Given the description of an element on the screen output the (x, y) to click on. 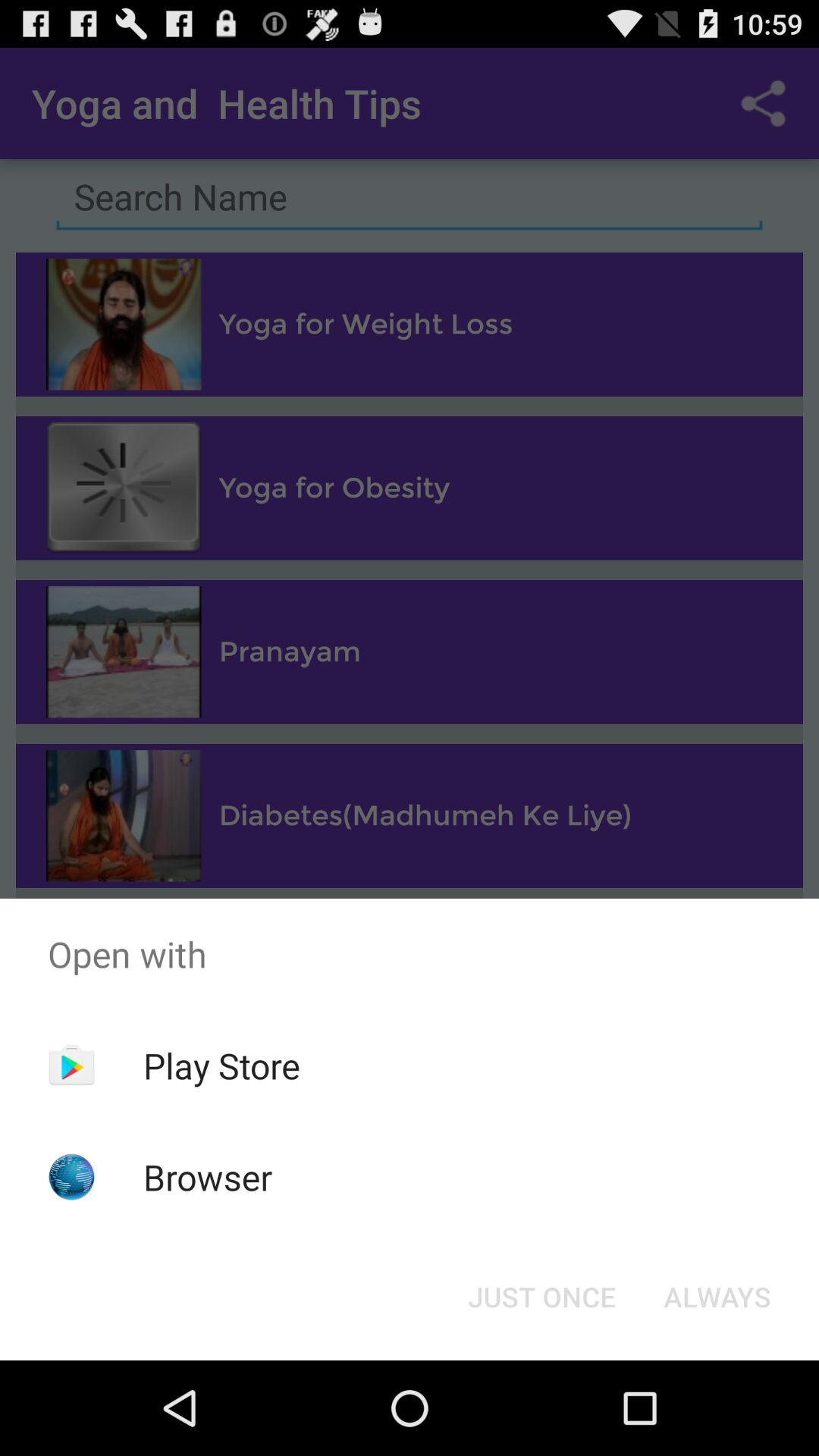
press the browser item (207, 1176)
